Given the description of an element on the screen output the (x, y) to click on. 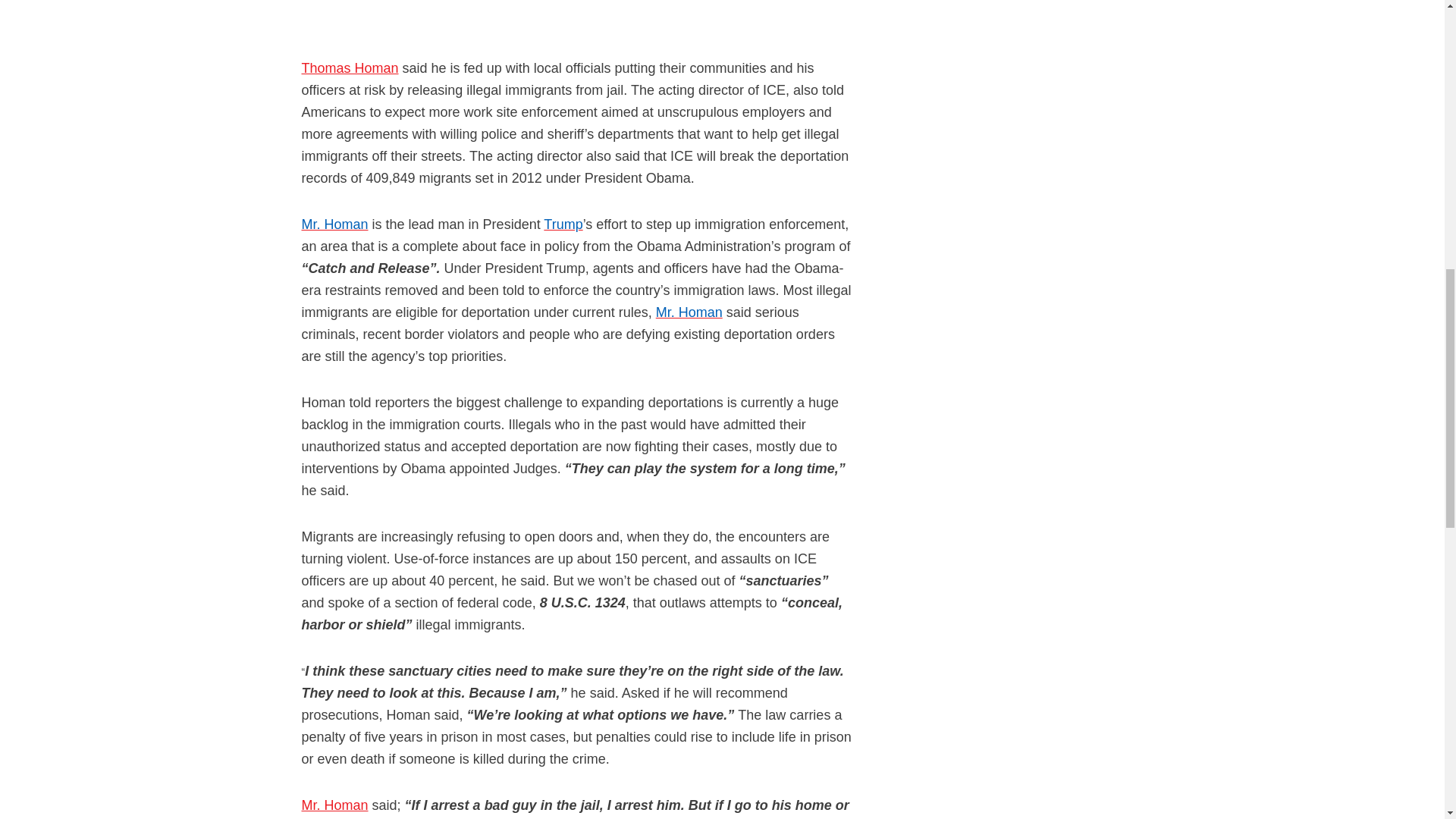
Trump (562, 224)
Thomas Homan (349, 68)
Mr. Homan (689, 313)
Mr. Homan (334, 224)
Mr. Homan (334, 805)
